Given the description of an element on the screen output the (x, y) to click on. 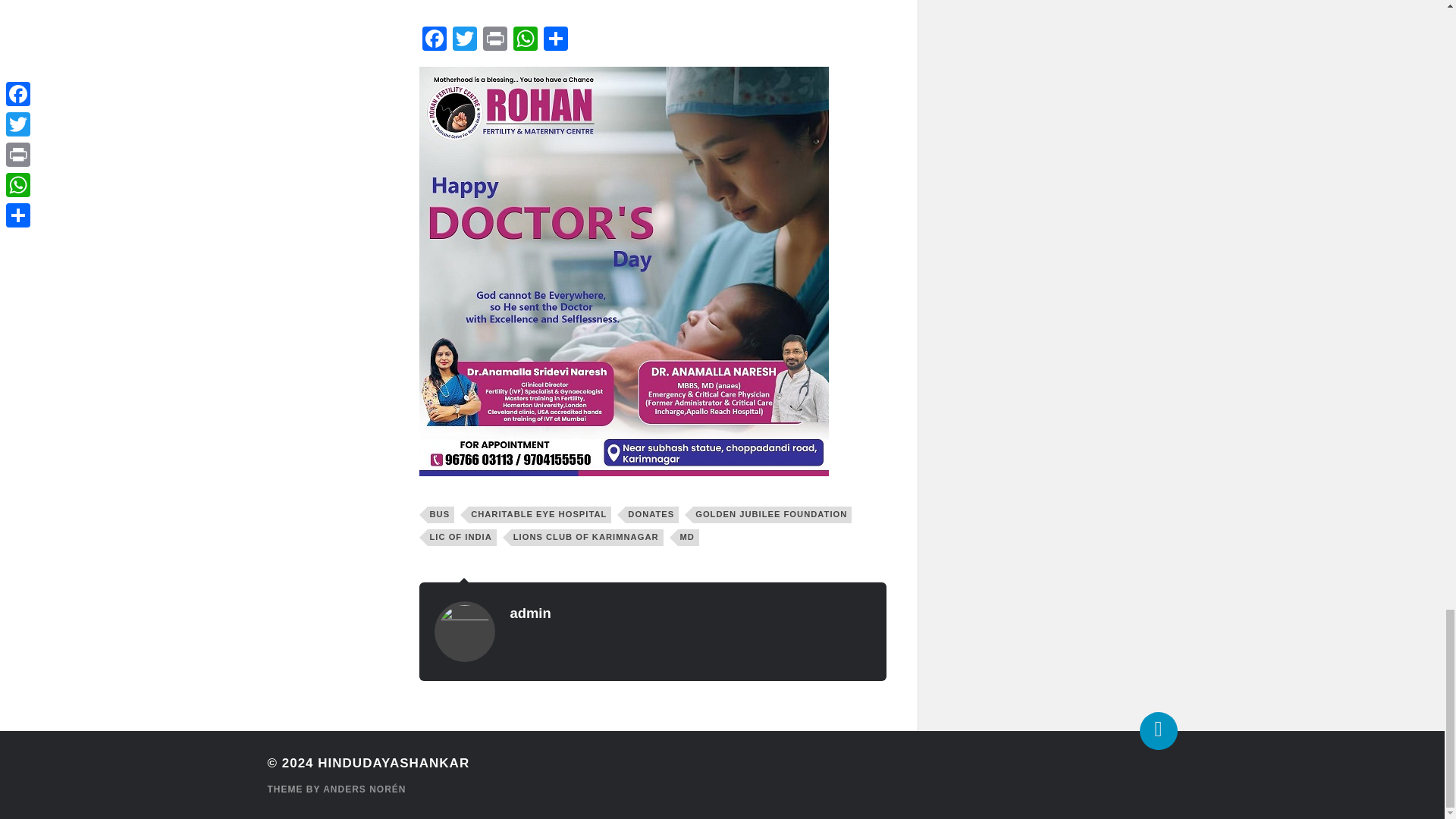
Facebook (433, 40)
CHARITABLE EYE HOSPITAL (539, 514)
LIC OF INDIA (462, 537)
WhatsApp (524, 40)
Twitter (463, 40)
Twitter (463, 40)
BUS (441, 514)
Facebook (433, 40)
WhatsApp (524, 40)
DONATES (652, 514)
Print (494, 40)
MD (688, 537)
LIONS CLUB OF KARIMNAGAR (587, 537)
Print (494, 40)
GOLDEN JUBILEE FOUNDATION (772, 514)
